Given the description of an element on the screen output the (x, y) to click on. 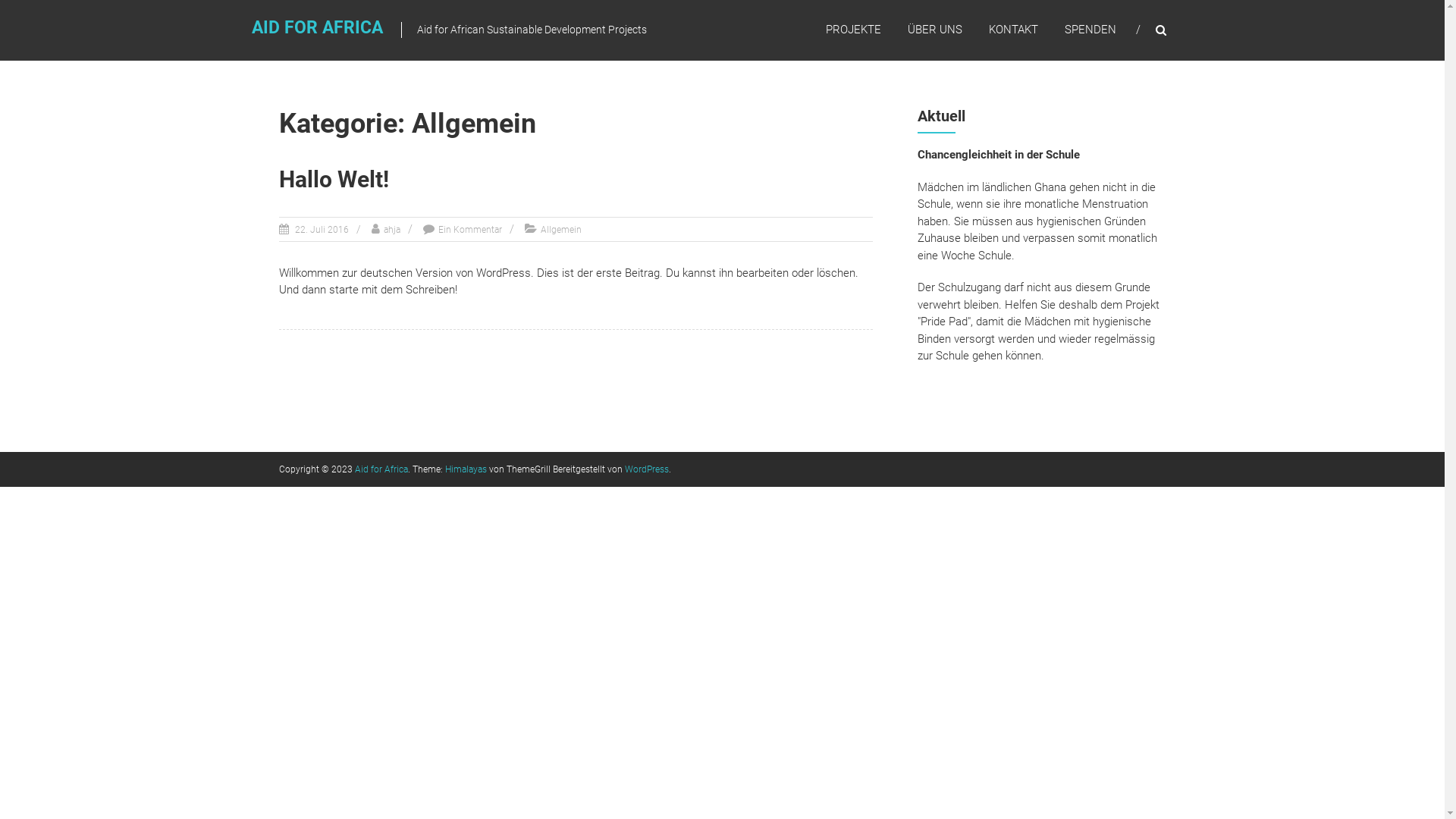
Ein Kommentar Element type: text (470, 229)
Hallo Welt! Element type: text (334, 179)
Himalayas Element type: text (465, 469)
SPENDEN Element type: text (1090, 29)
Allgemein Element type: text (559, 229)
KONTAKT Element type: text (1013, 29)
PROJEKTE Element type: text (852, 29)
ahja Element type: text (391, 229)
22. Juli 2016 Element type: text (320, 229)
WordPress Element type: text (646, 469)
Suche Element type: text (1231, 409)
Aid for Africa Element type: text (380, 469)
AID FOR AFRICA Element type: text (316, 27)
